Given the description of an element on the screen output the (x, y) to click on. 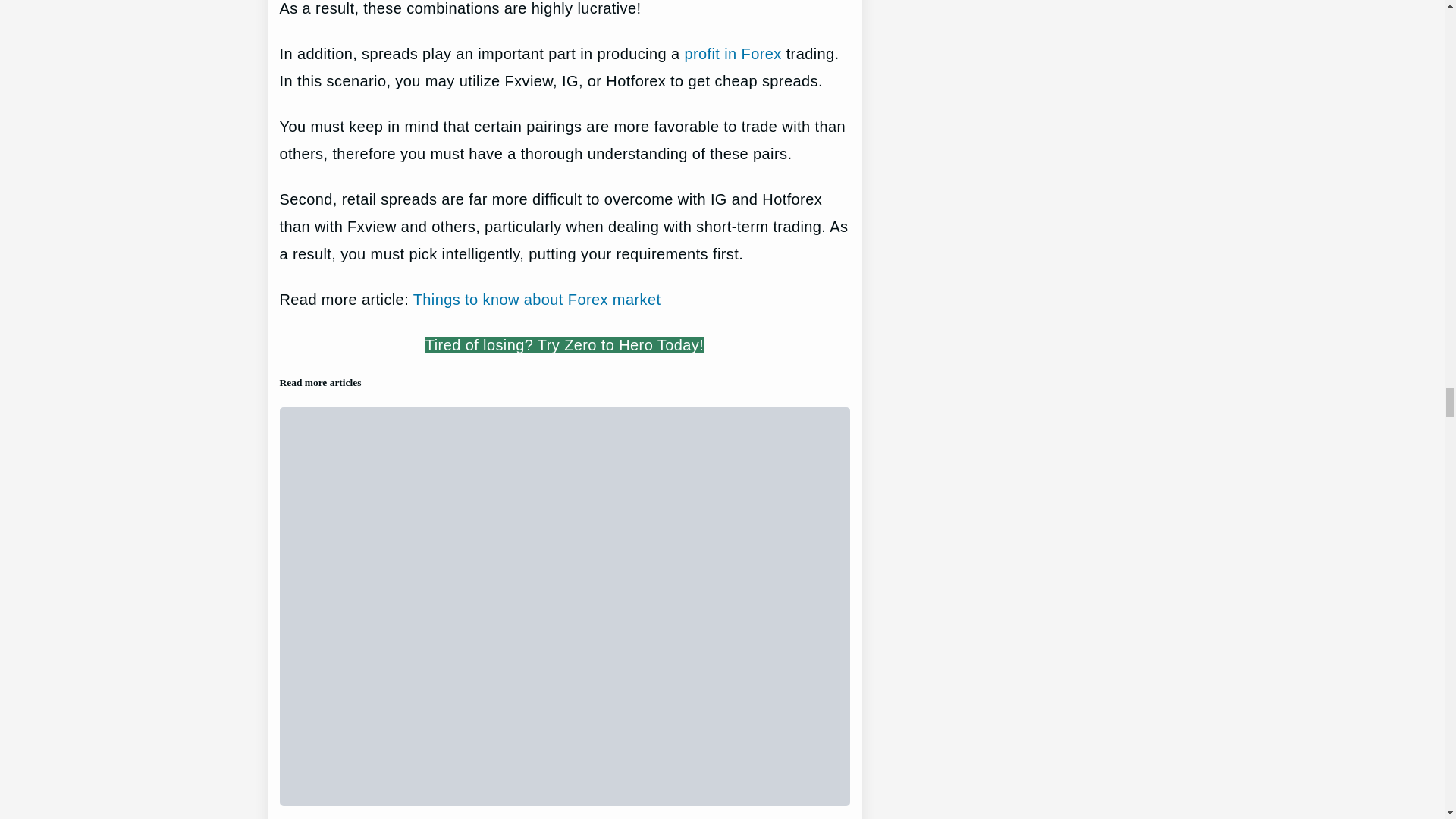
Things to know about Forex market (537, 299)
Tired of losing? Try Zero to Hero Today! (564, 344)
profit in Forex (732, 53)
